Given the description of an element on the screen output the (x, y) to click on. 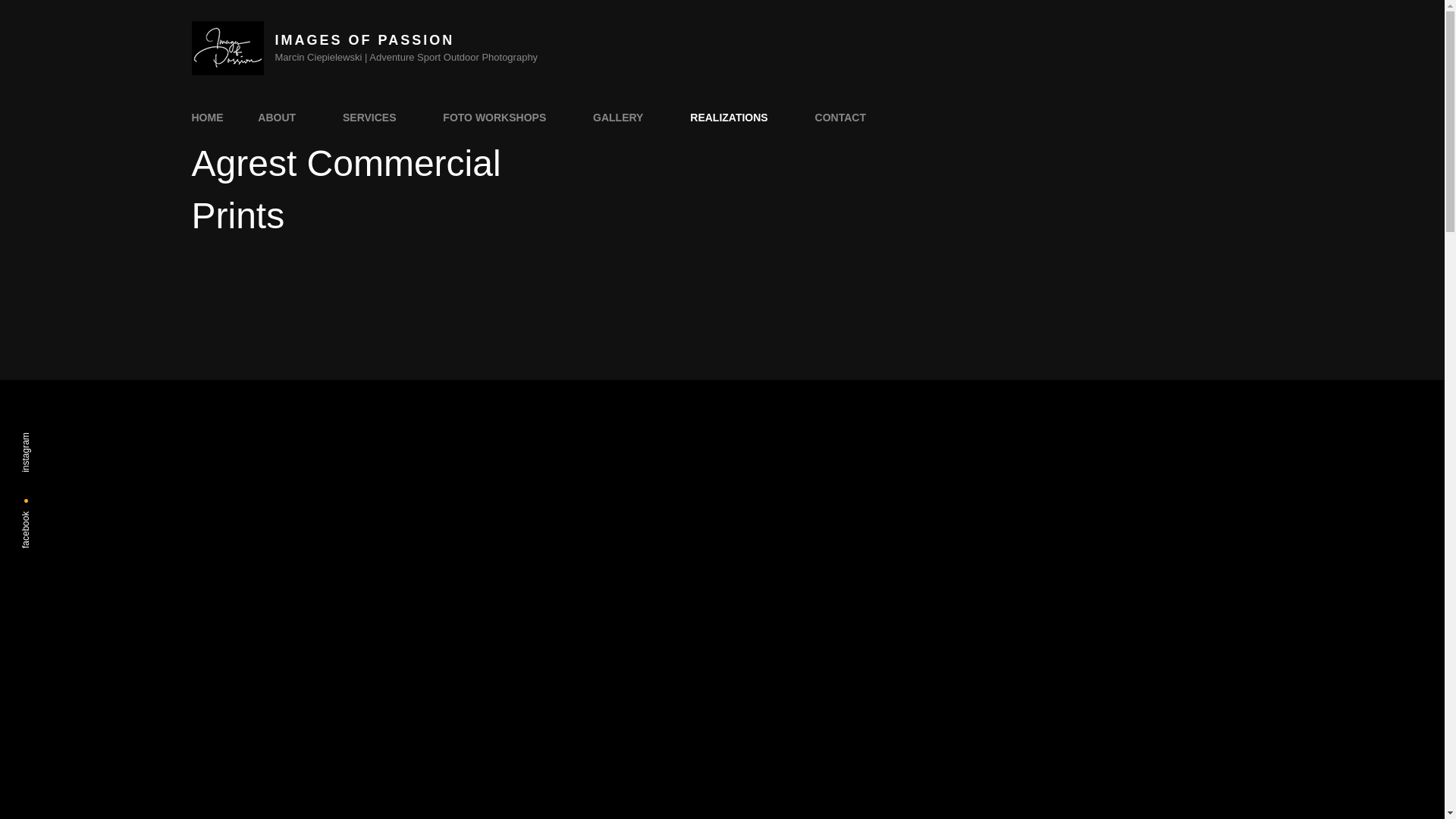
REALIZATIONS (734, 117)
GALLERY (623, 117)
IMAGES OF PASSION (364, 39)
facebook (43, 518)
SERVICES (375, 117)
HOME (207, 117)
SEARCH (900, 117)
FOTO WORKSHOPS (500, 117)
CONTACT (839, 117)
ABOUT (283, 117)
